Given the description of an element on the screen output the (x, y) to click on. 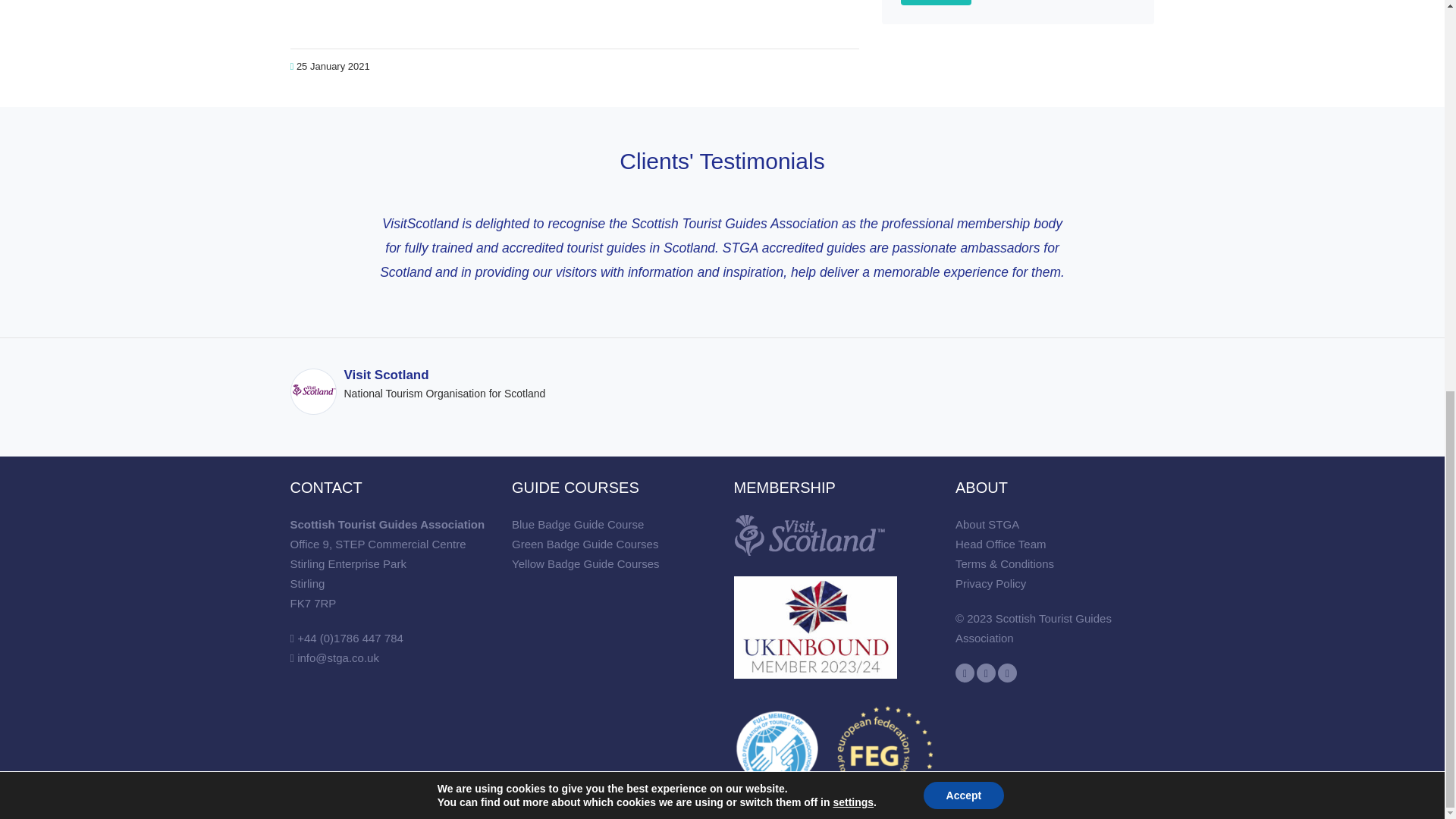
About STGA (987, 523)
Green Badge Guide Courses (585, 543)
Search (936, 2)
Blue Badge Guide Course (577, 523)
Yellow Badge Guide Courses (585, 563)
